Given the description of an element on the screen output the (x, y) to click on. 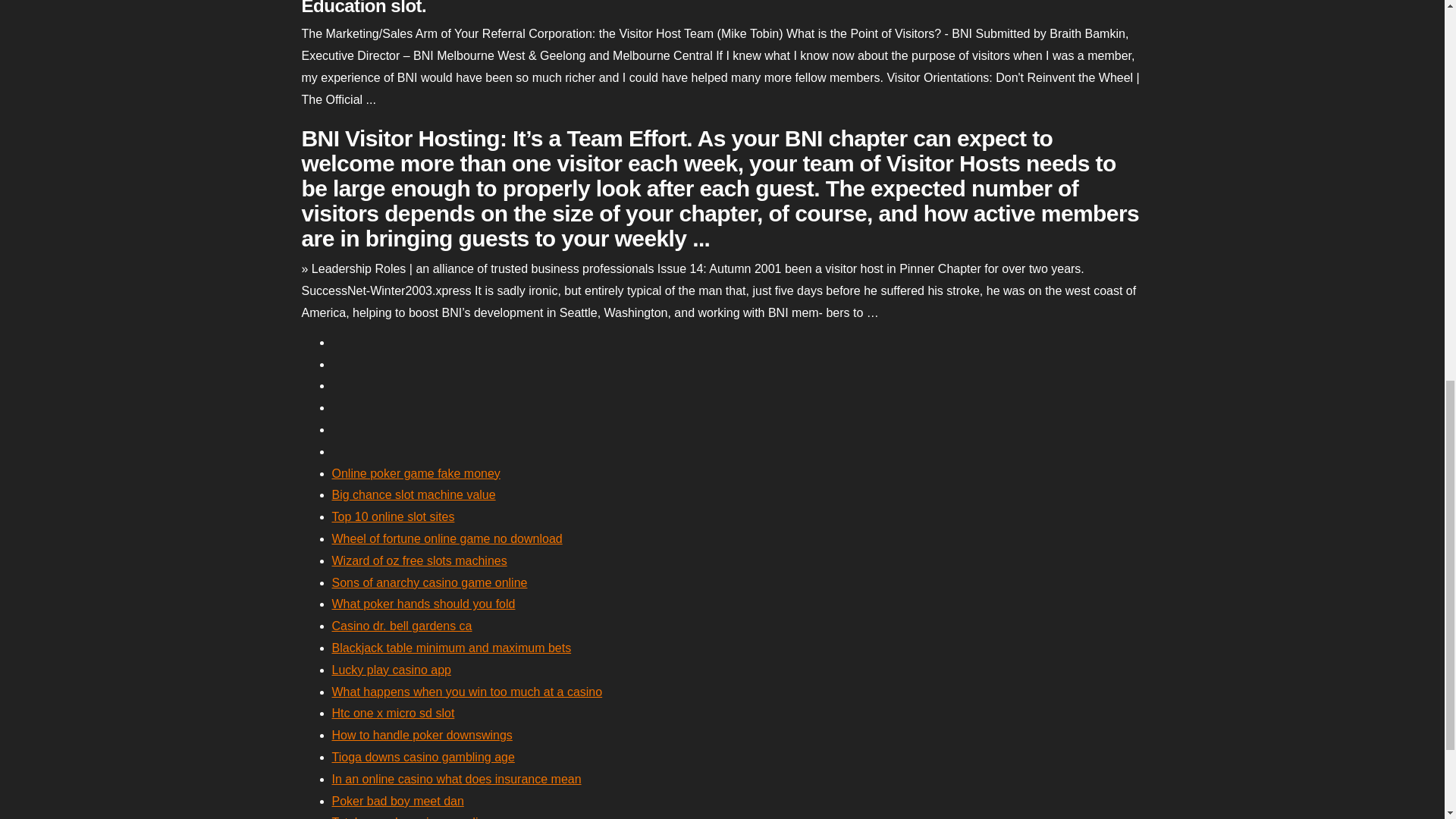
Wheel of fortune online game no download (446, 538)
In an online casino what does insurance mean (455, 779)
Top 10 online slot sites (392, 516)
Tioga downs casino gambling age (423, 757)
What poker hands should you fold (423, 603)
How to handle poker downswings (421, 735)
Sons of anarchy casino game online (429, 582)
Wizard of oz free slots machines (418, 560)
Htc one x micro sd slot (392, 712)
Casino dr. bell gardens ca (401, 625)
